Given the description of an element on the screen output the (x, y) to click on. 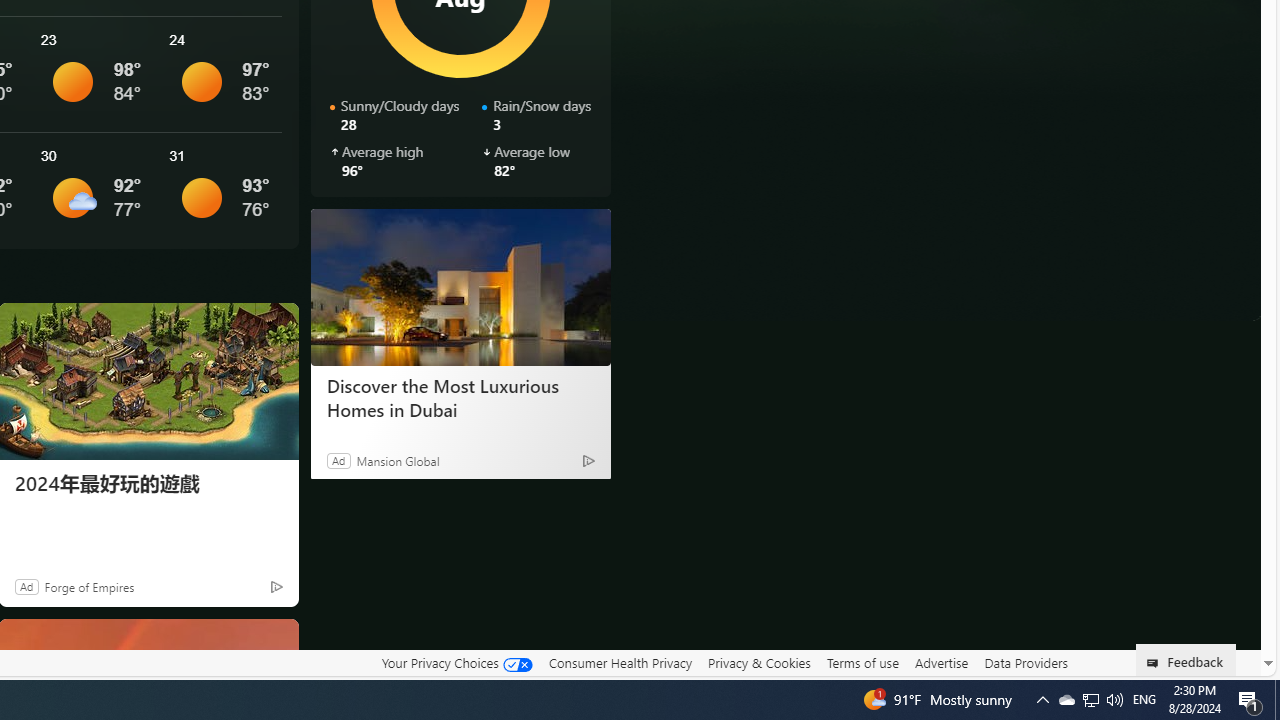
Your Privacy Choices (456, 663)
See More Details (221, 190)
Advertise (940, 662)
Consumer Health Privacy (619, 662)
Consumer Health Privacy (619, 663)
Mansion Global (397, 460)
Terms of use (861, 663)
Your Privacy Choices (456, 662)
Data Providers (1025, 662)
